Given the description of an element on the screen output the (x, y) to click on. 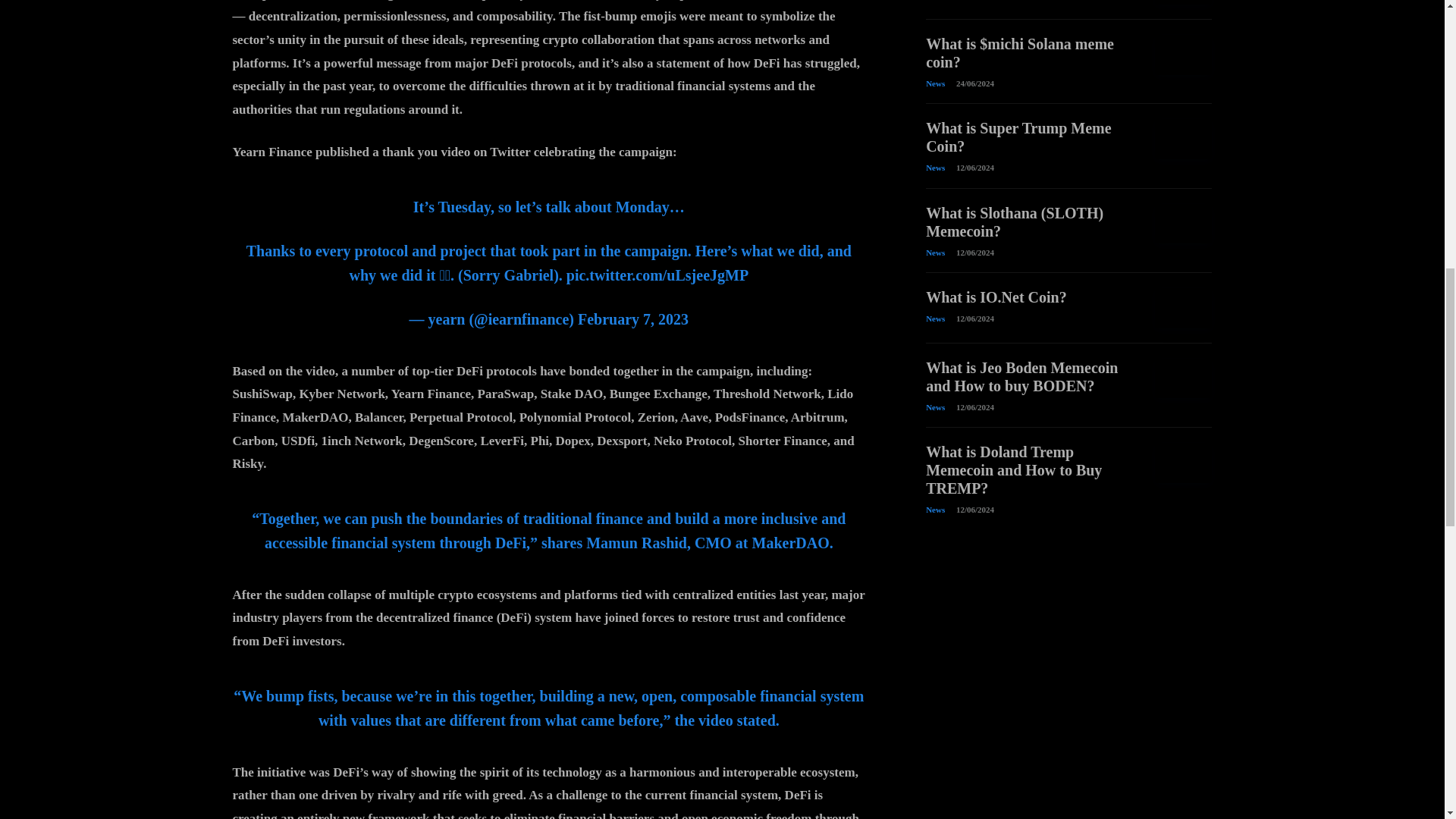
What is IO.Net Coin? (996, 297)
What is IO.Net Coin? (1182, 308)
What is PeiPei ETH memecoin? (1182, 2)
What is Super Trump Meme Coin? (1018, 136)
What is Super Trump Meme Coin? (1182, 138)
